Given the description of an element on the screen output the (x, y) to click on. 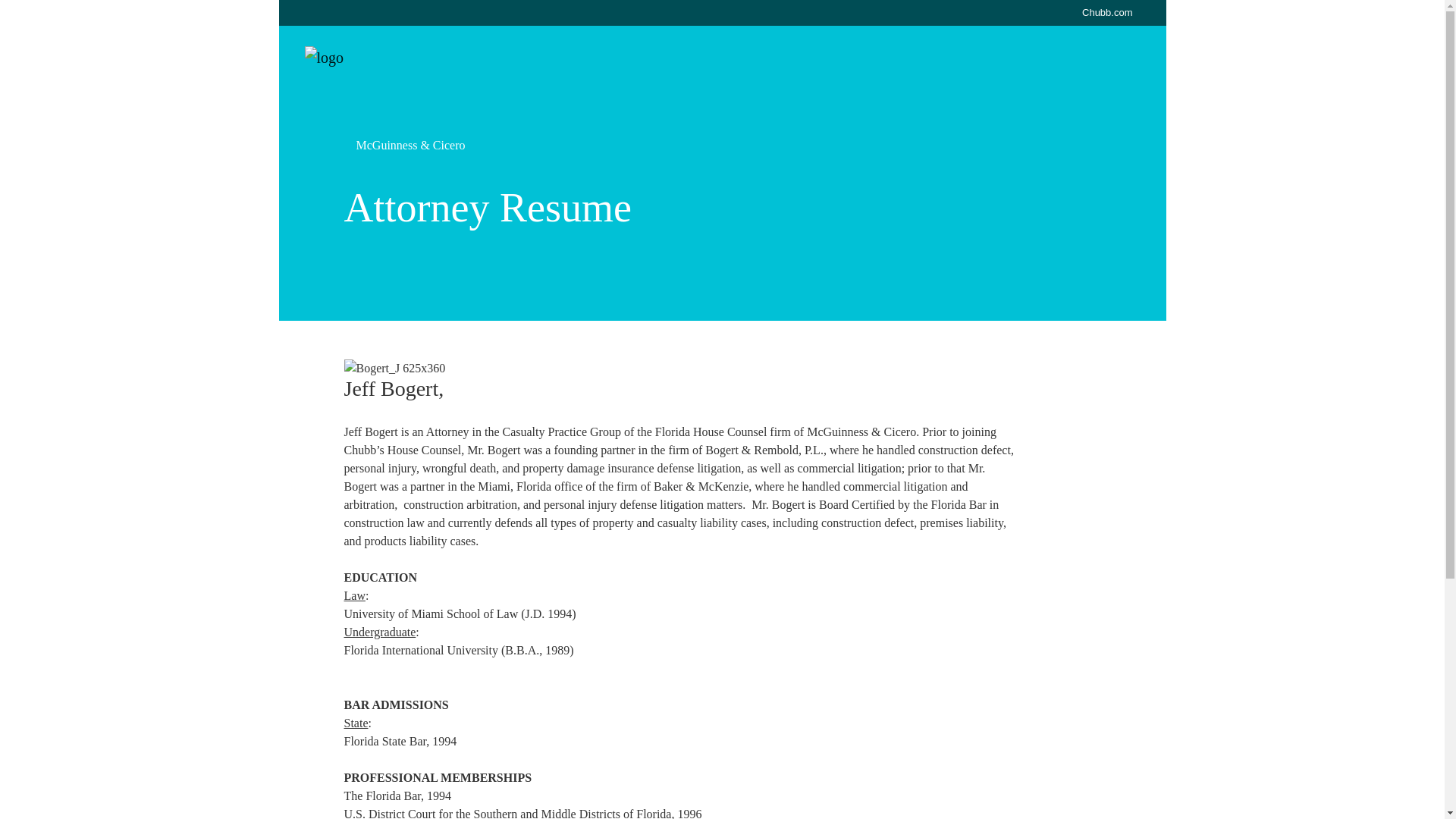
Chubb.com (1106, 12)
Chubb (358, 56)
Chubb.com (1106, 12)
